Given the description of an element on the screen output the (x, y) to click on. 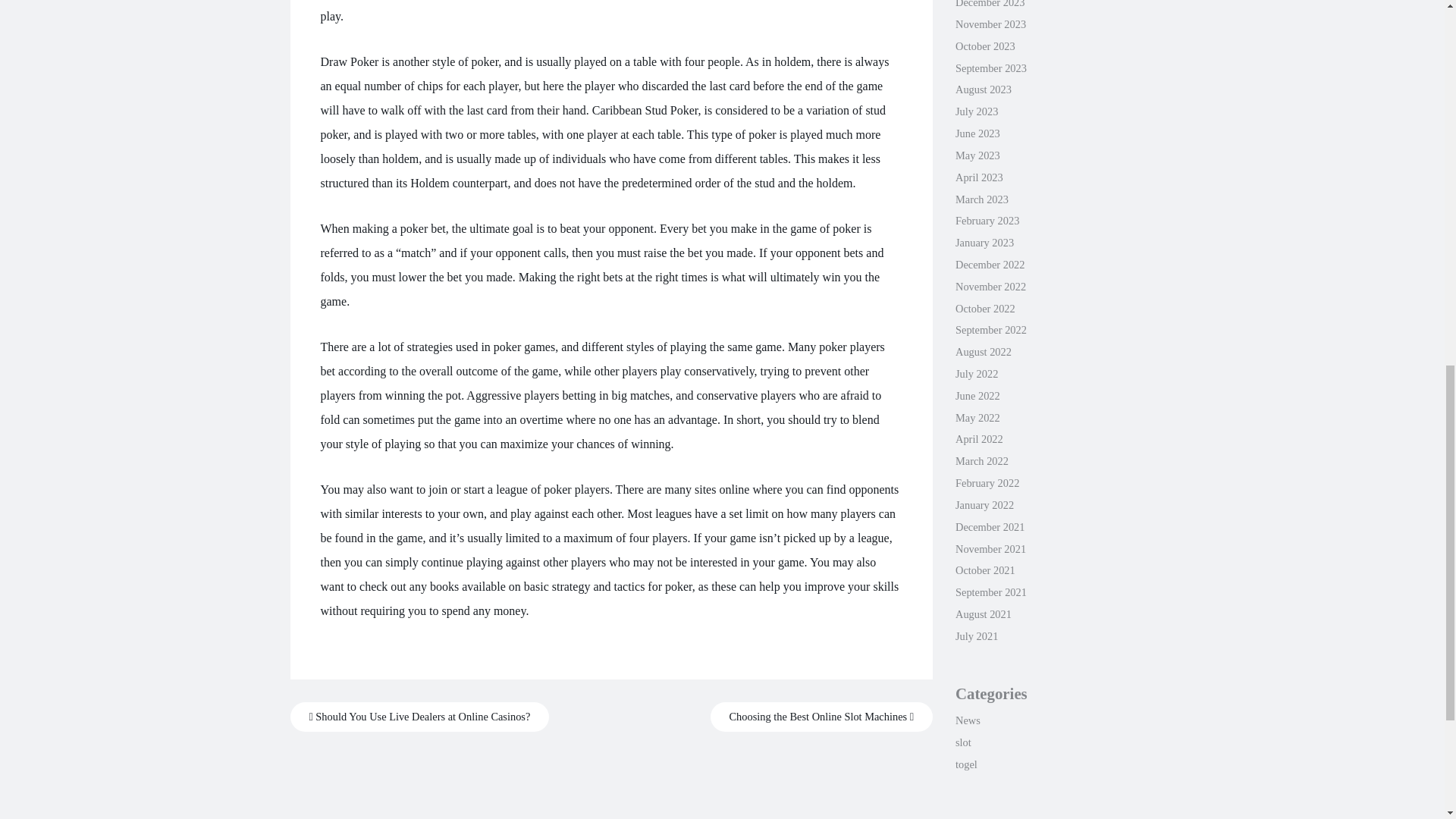
June 2023 (977, 133)
October 2023 (984, 46)
July 2023 (976, 111)
September 2023 (990, 68)
May 2023 (977, 155)
February 2023 (987, 220)
Choosing the Best Online Slot Machines (821, 716)
December 2022 (990, 264)
December 2023 (990, 4)
August 2022 (983, 351)
November 2023 (990, 24)
July 2022 (976, 373)
January 2023 (984, 242)
August 2023 (983, 89)
October 2022 (984, 308)
